Given the description of an element on the screen output the (x, y) to click on. 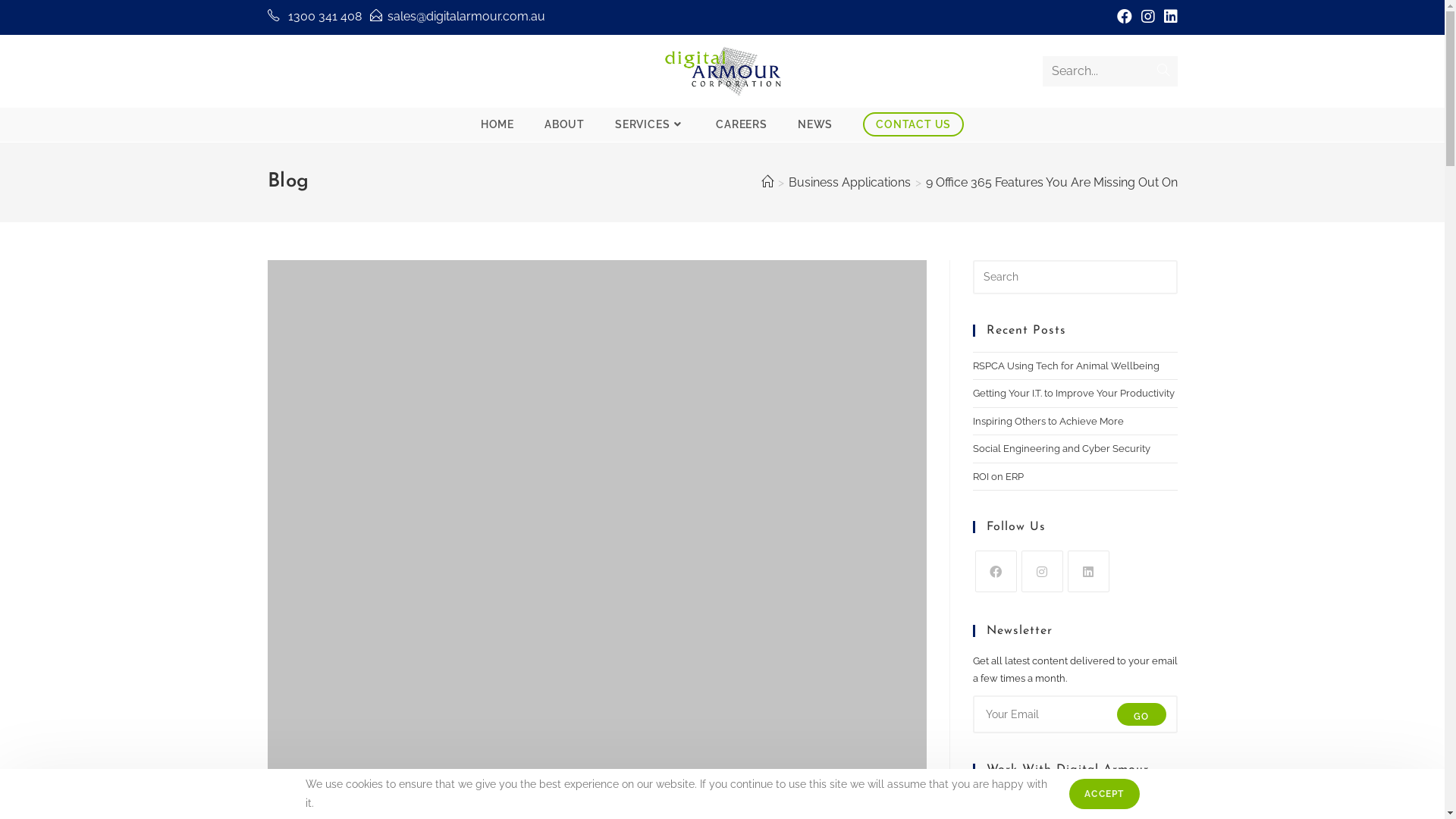
1300 341 408 Element type: text (1063, 525)
Getting Your I.T. to Improve Your Productivity Element type: hover (532, 535)
Content Society Element type: text (863, 802)
ROI on ERP Element type: text (997, 475)
Getting Your I.T. to Improve Your Productivity Element type: text (619, 528)
1300 341 408 Element type: text (324, 16)
Inspiring Others to Achieve More Element type: text (1047, 420)
SERVICES Element type: text (649, 124)
About Element type: text (296, 618)
ACCEPT Element type: text (1104, 793)
9 Office 365 Features You Are Missing Out On Element type: text (1050, 182)
RSPCA Using Tech for Animal Wellbeing Element type: hover (532, 449)
sales@digitalarmour.com.au Element type: text (1040, 566)
CONTACT US Element type: text (913, 124)
Careers in IT Element type: text (313, 650)
Social Engineering and Cyber Security Element type: text (1060, 448)
Submit search Element type: text (1162, 71)
Getting Your I.T. to Improve Your Productivity Element type: text (1072, 392)
Environmental Policy Element type: text (338, 682)
Cookies Policy Element type: text (319, 745)
NEWS Element type: text (814, 124)
RSPCA Using Tech for Animal Wellbeing Element type: text (1065, 365)
RSPCA Using Tech for Animal Wellbeing Element type: text (630, 442)
Privacy Policy Element type: text (318, 713)
Business Applications Element type: text (849, 182)
CAREERS Element type: text (741, 124)
Inspiring Others to Achieve More Element type: text (620, 613)
HOME Element type: text (497, 124)
sales@digitalarmour.com.au Element type: text (465, 16)
GO Element type: text (905, 515)
Inspiring Others to Achieve More Element type: hover (532, 620)
GO Element type: text (1141, 713)
ABOUT Element type: text (564, 124)
